Given the description of an element on the screen output the (x, y) to click on. 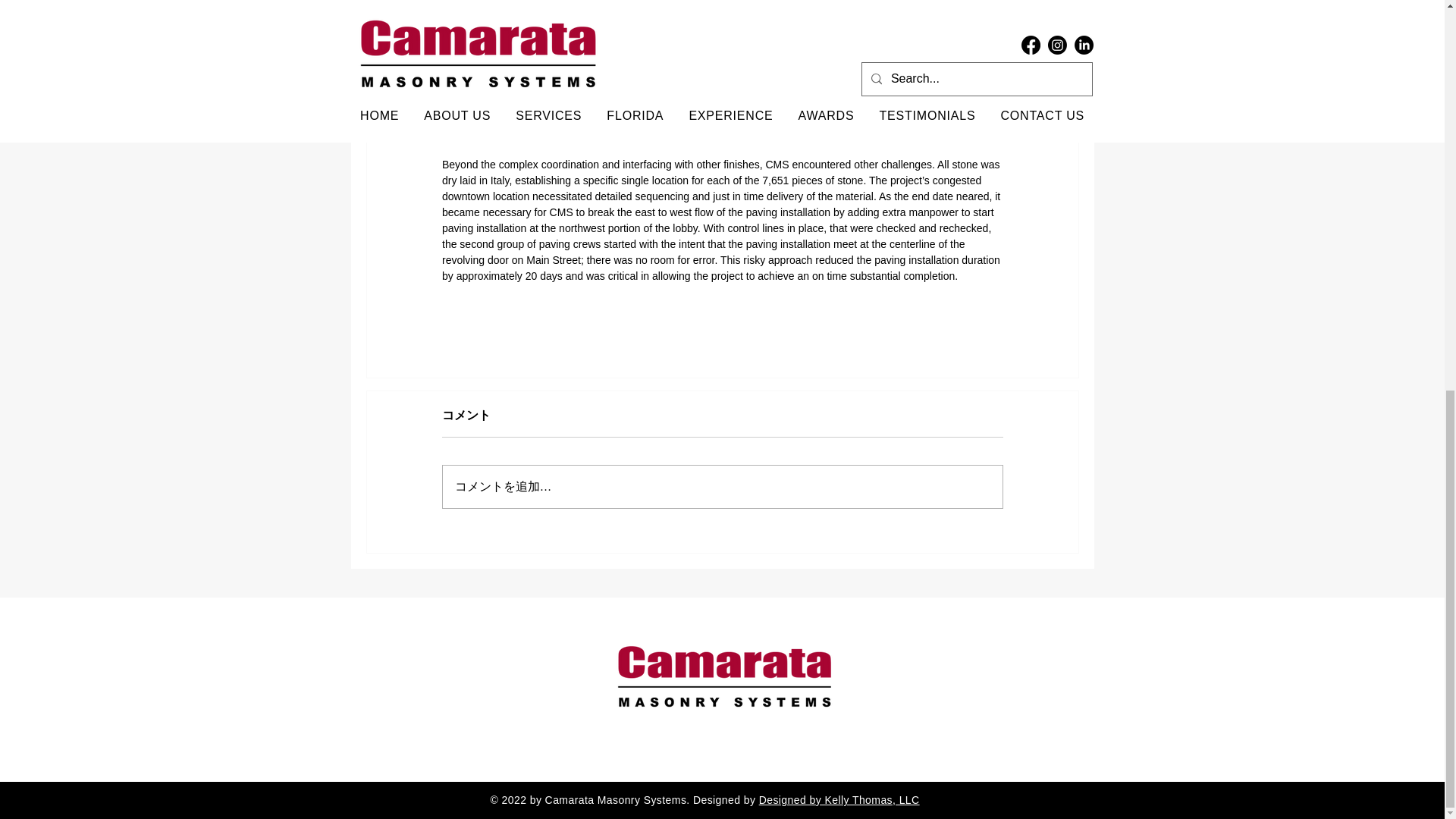
Designed by Kelly Thomas, LLC (839, 799)
